Given the description of an element on the screen output the (x, y) to click on. 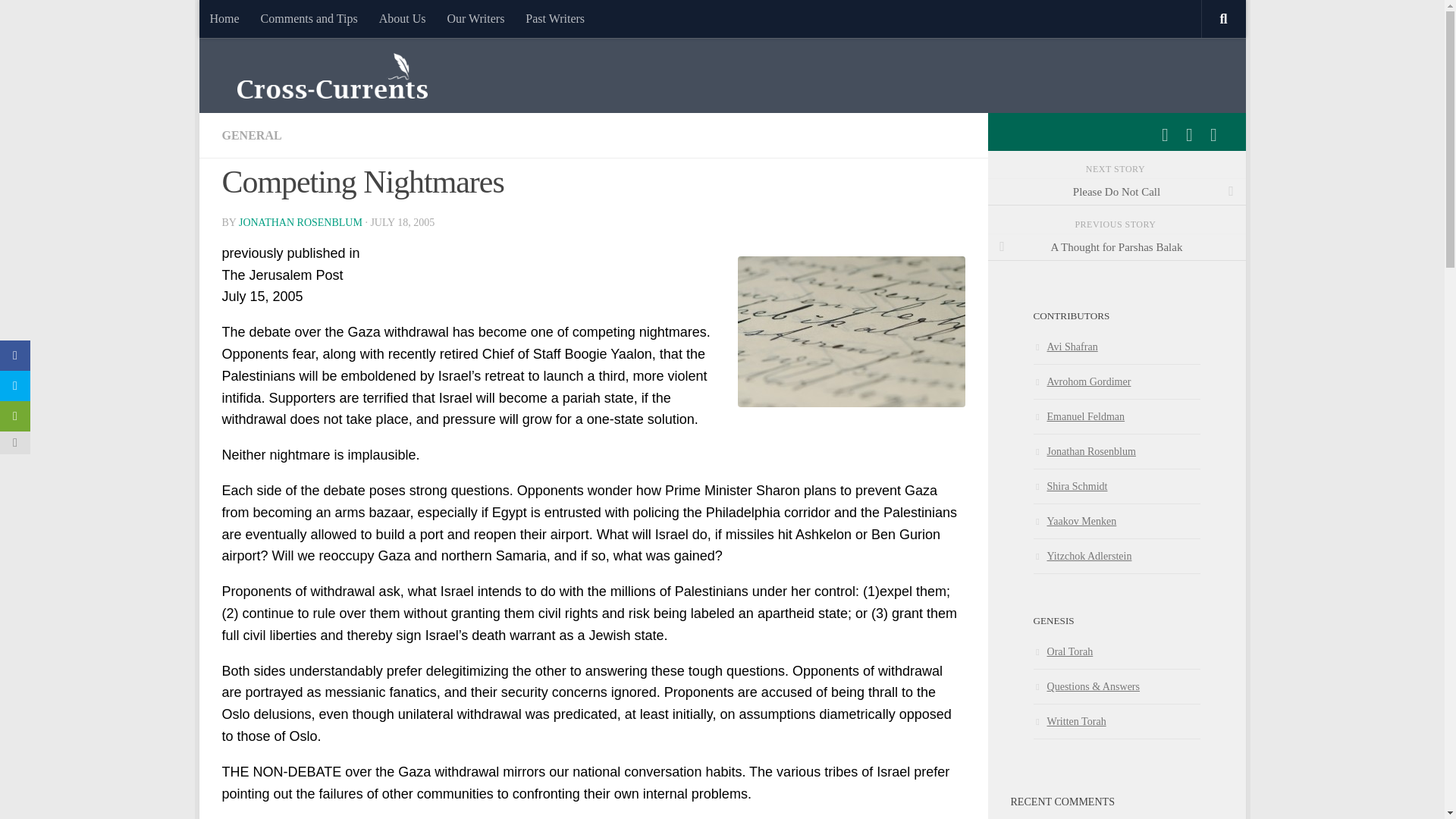
Posts by Jonathan Rosenblum (300, 222)
Avrohom Gordimer (1081, 381)
JONATHAN ROSENBLUM (300, 222)
Past Writers (555, 18)
Shira Schmidt (1069, 485)
Yaakov Menken (1074, 521)
Avi Shafran (1064, 346)
Emanuel Feldman (1078, 416)
Follow us on Twitter (1188, 135)
Follow us on Facebook (1164, 135)
